Given the description of an element on the screen output the (x, y) to click on. 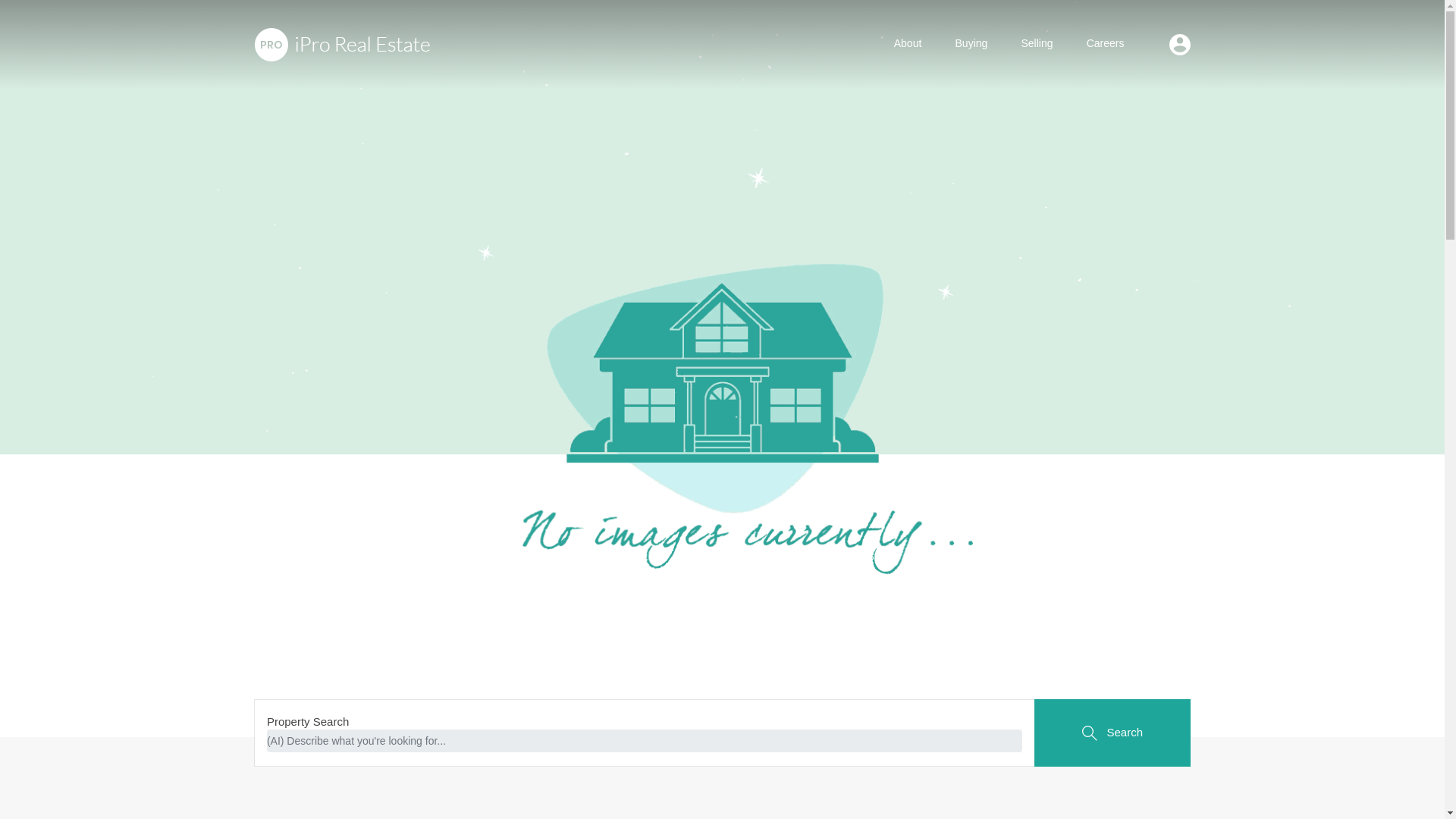
Selling (1036, 44)
Buying (971, 44)
About (908, 44)
Careers (1105, 44)
